Given the description of an element on the screen output the (x, y) to click on. 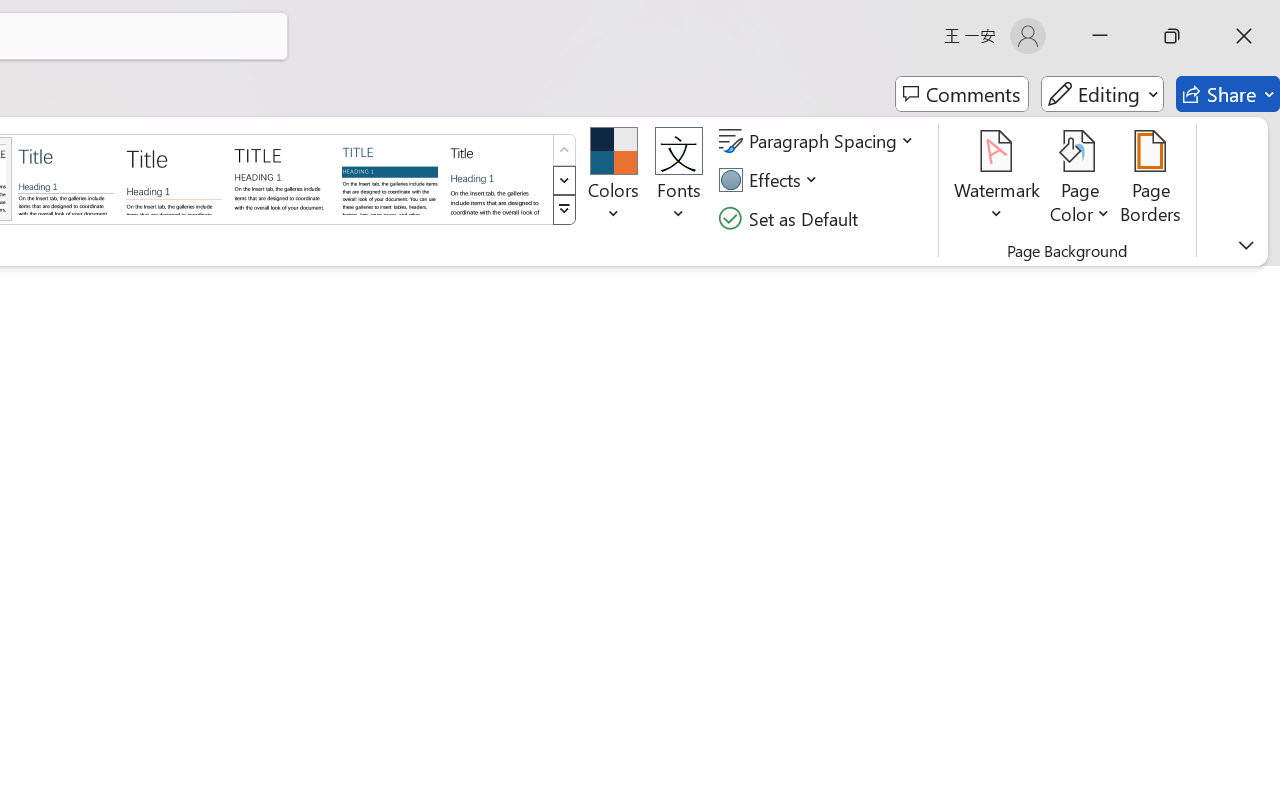
Set as Default (791, 218)
Comments (961, 94)
Row up (564, 150)
Close (1244, 36)
Minimize (1099, 36)
Lines (Simple) (65, 178)
Word (497, 178)
Colors (613, 179)
Row Down (564, 180)
Restore Down (1172, 36)
Style Set (564, 209)
Editing (1101, 94)
Effects (771, 179)
Watermark (997, 179)
Minimalist (281, 178)
